Given the description of an element on the screen output the (x, y) to click on. 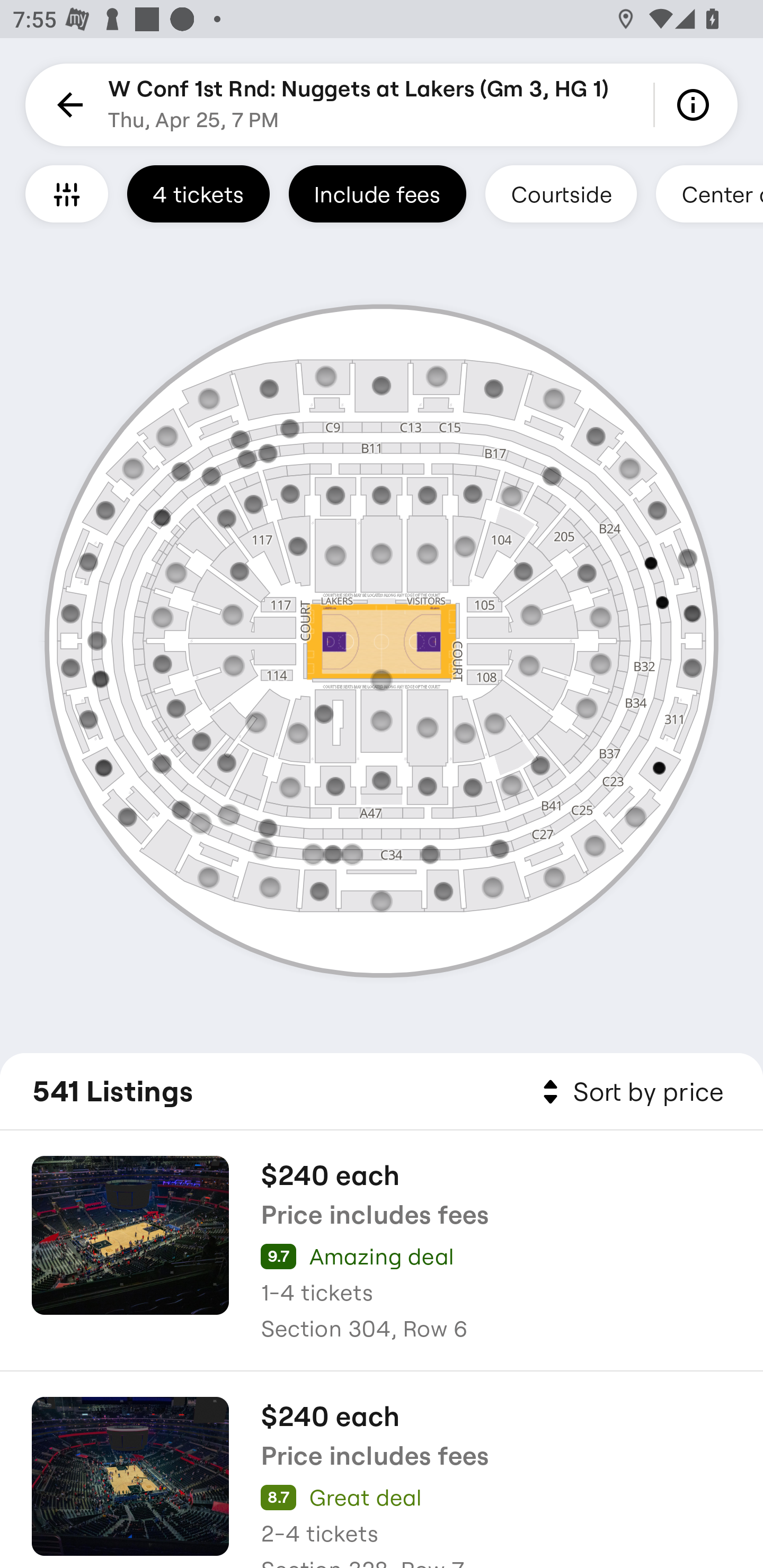
Back (66, 104)
Info (695, 104)
Filters and Accessible Seating (66, 193)
4 tickets (198, 193)
Include fees (377, 193)
Courtside (561, 193)
Center court (709, 193)
Sort by price (629, 1091)
